Given the description of an element on the screen output the (x, y) to click on. 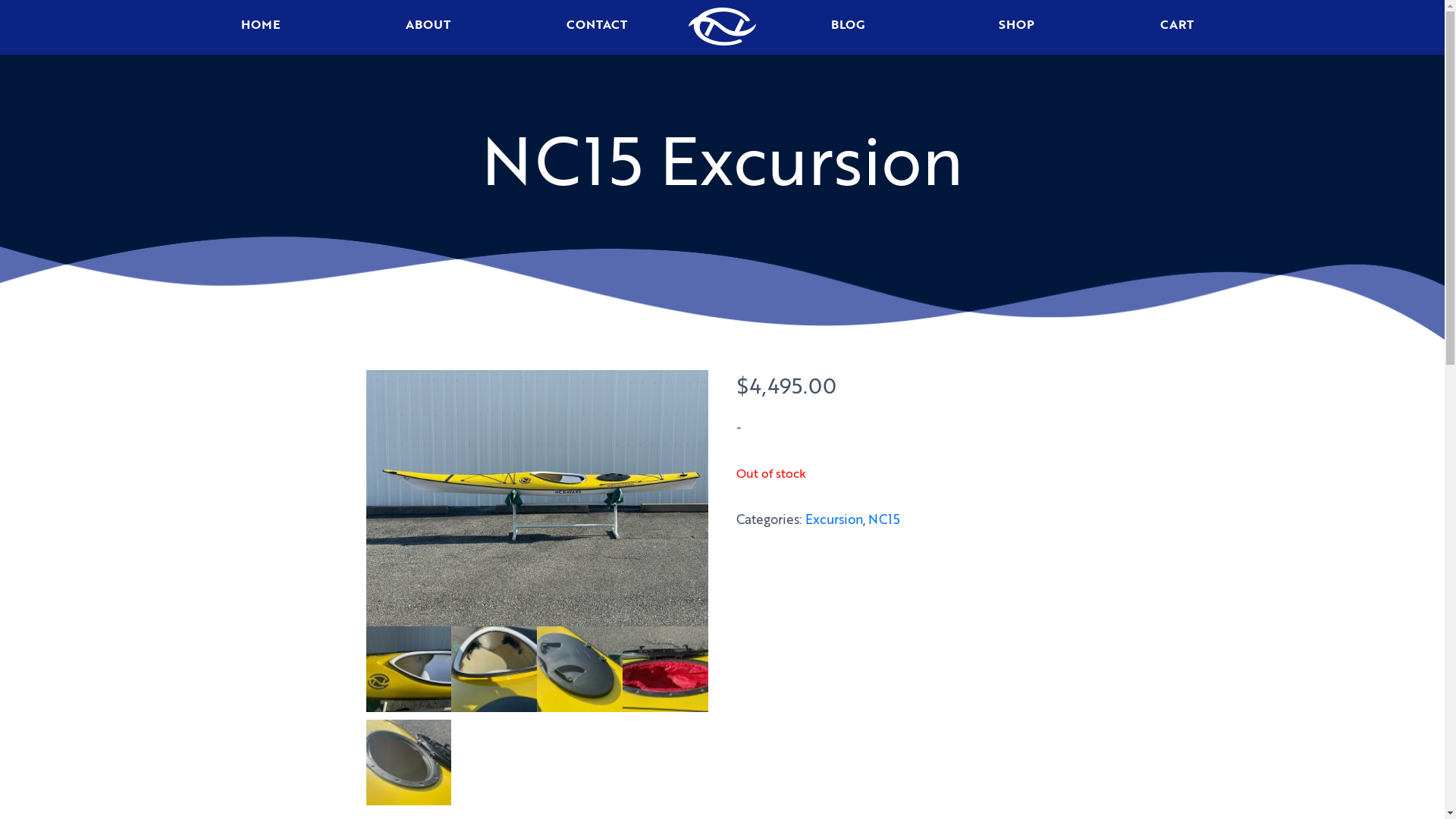
SHOP (1015, 27)
NC Kayaks (722, 38)
CONTACT (596, 27)
ABOUT (427, 27)
CART (1184, 27)
HOME (259, 27)
BLOG (848, 27)
Excursion (834, 518)
NC15 (883, 518)
